Given the description of an element on the screen output the (x, y) to click on. 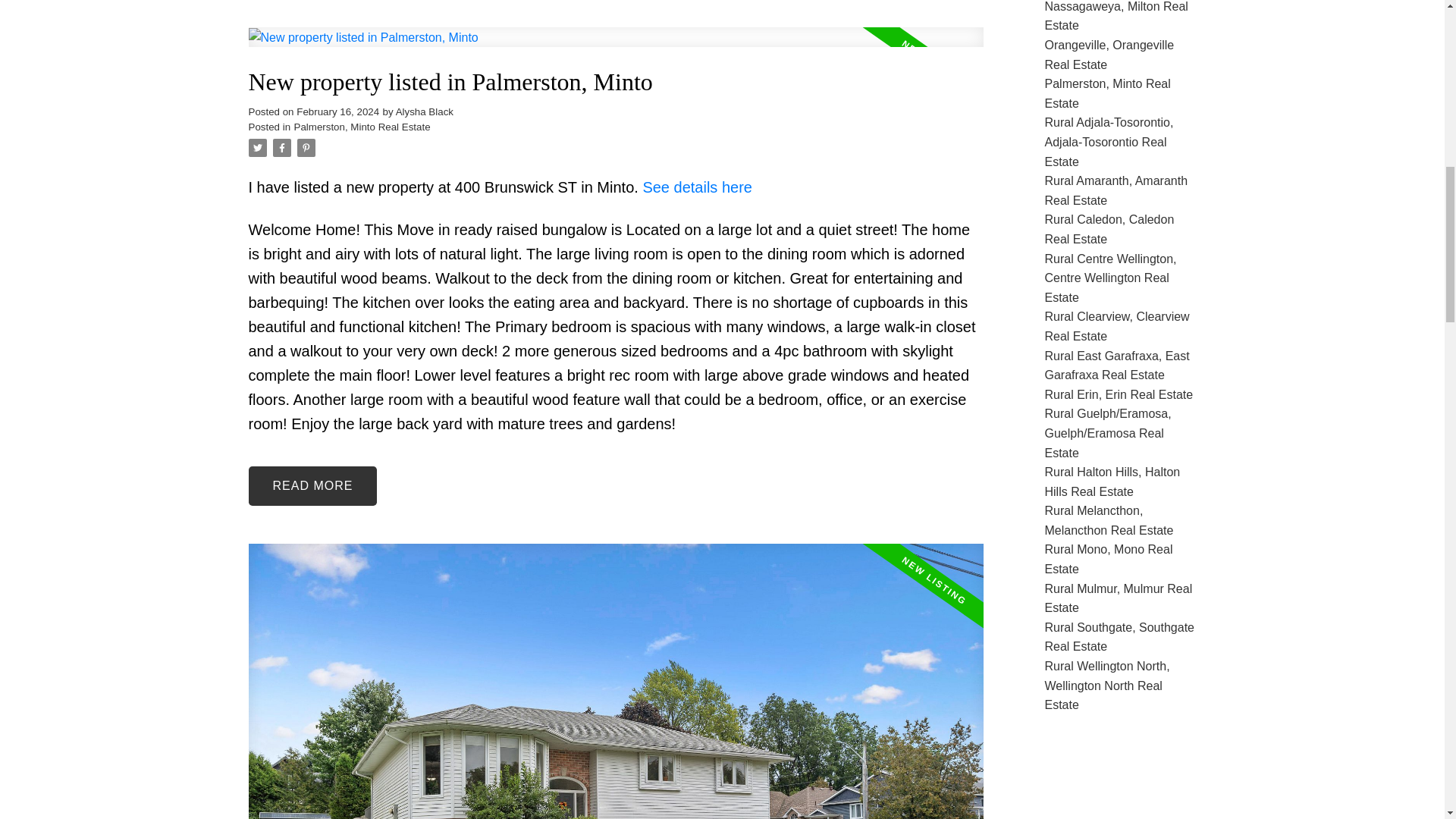
Read full post (616, 46)
Palmerston, Minto Real Estate (362, 126)
See details here (697, 187)
New property listed in Palmerston, Minto (616, 82)
READ (312, 486)
